Given the description of an element on the screen output the (x, y) to click on. 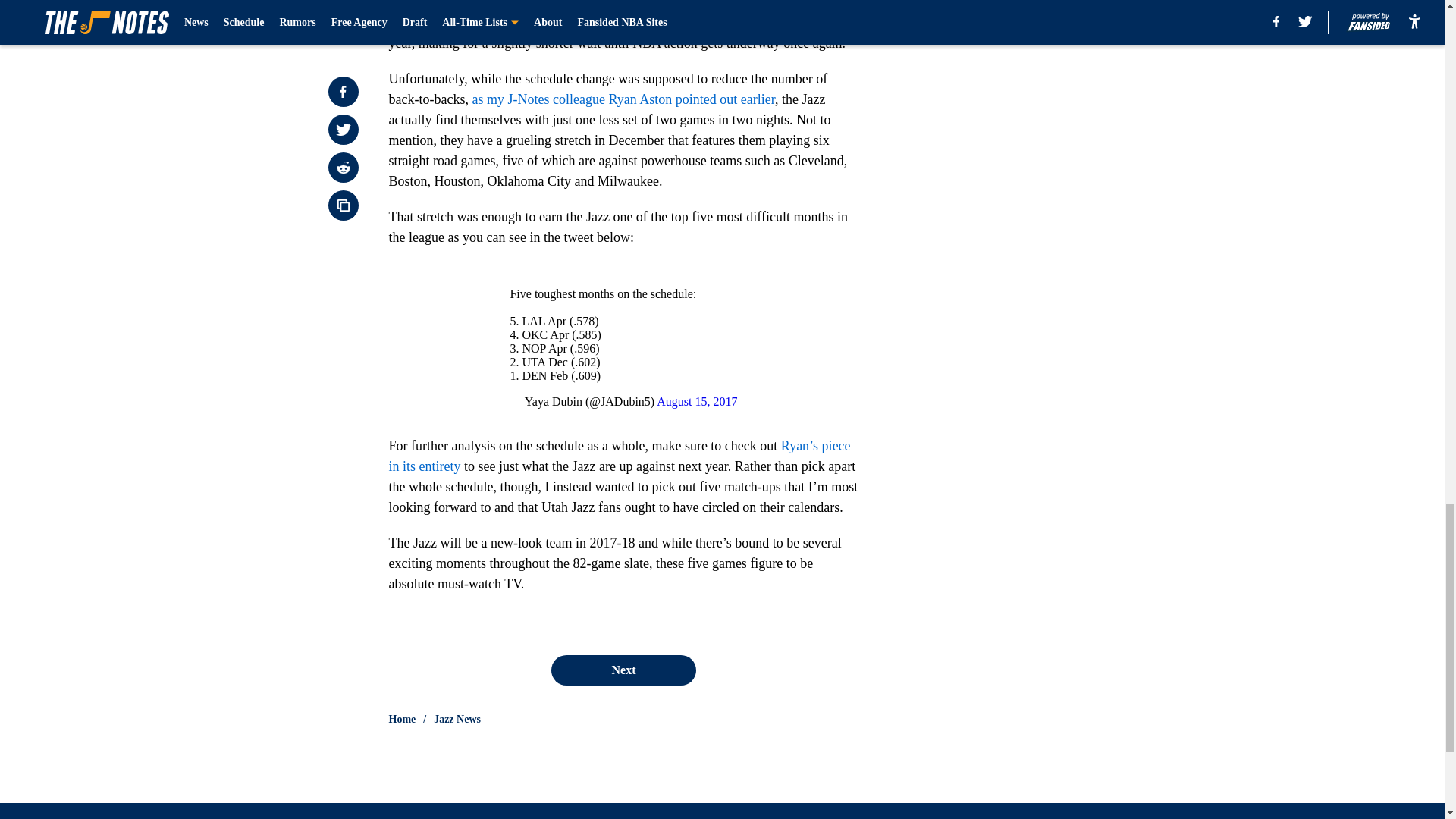
Next (622, 670)
as my J-Notes colleague Ryan Aston pointed out earlier (622, 99)
August 15, 2017 (696, 400)
Home (401, 719)
Jazz News (456, 719)
